Given the description of an element on the screen output the (x, y) to click on. 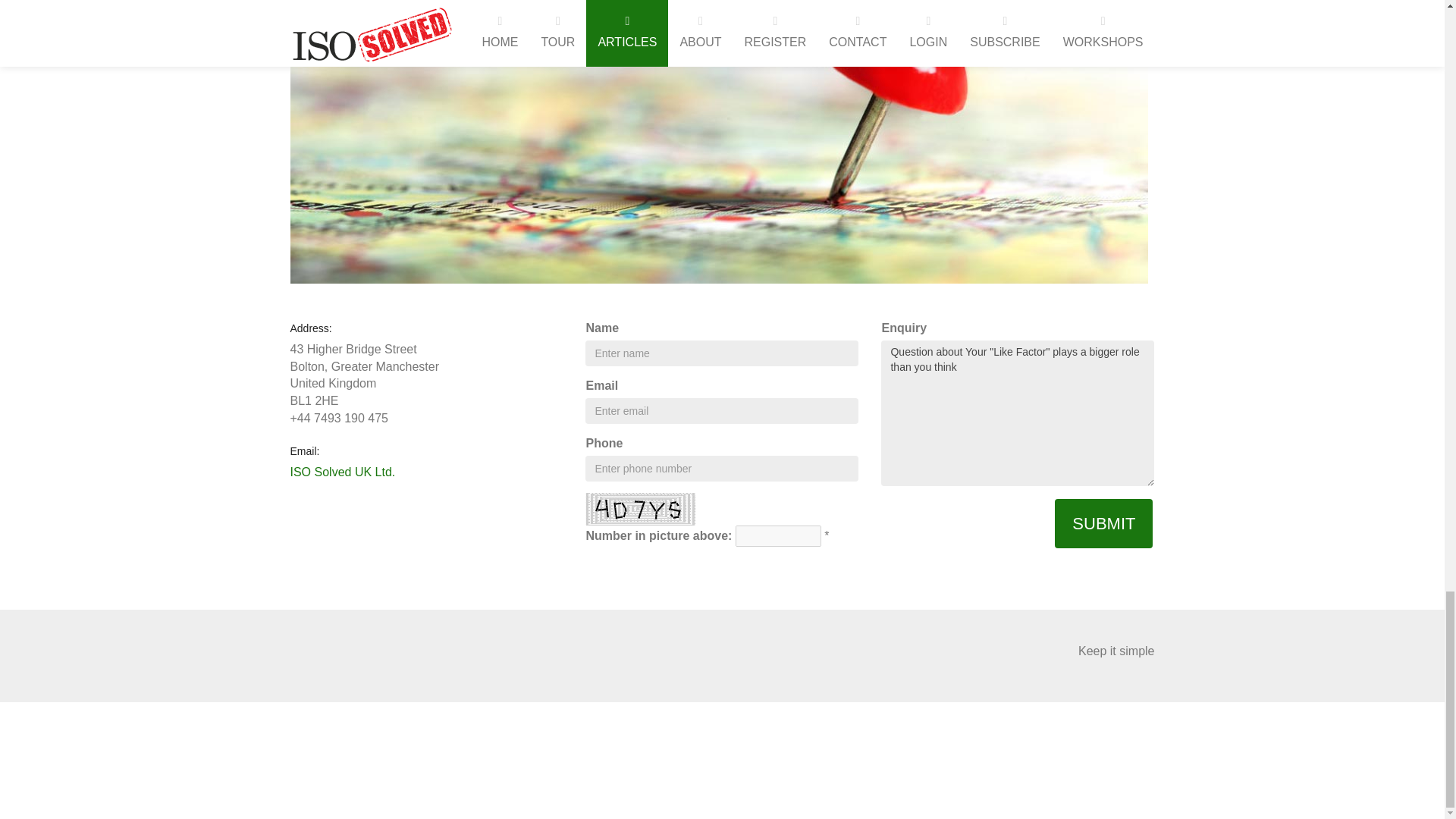
Submit (1103, 523)
Please enter a valid email address (722, 411)
ISO Solved UK Ltd. (341, 472)
